Given the description of an element on the screen output the (x, y) to click on. 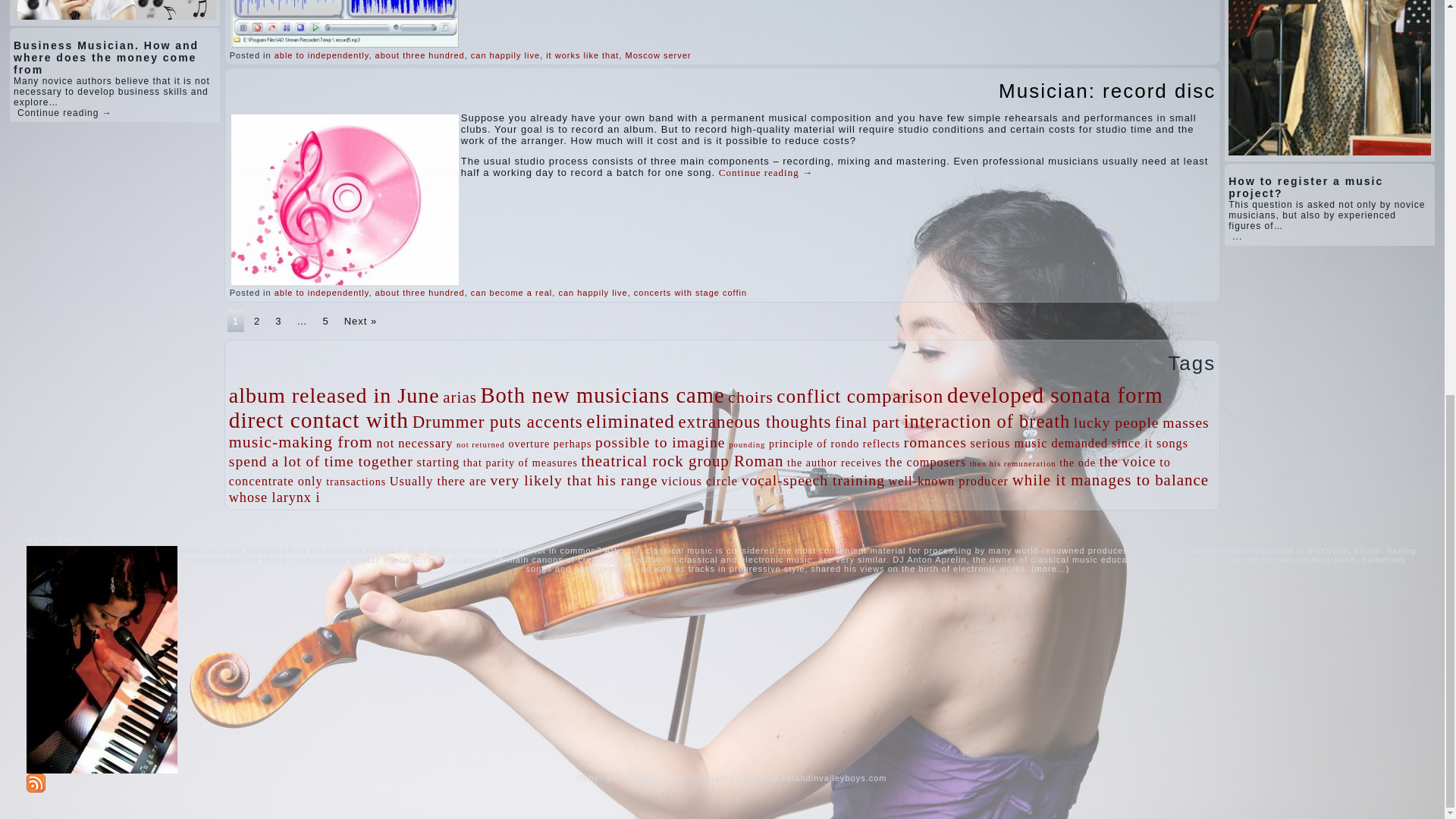
Musician: record disc (1106, 90)
it works like that (582, 54)
about three hundred (419, 54)
16 topics (333, 395)
can happily live (505, 54)
Moscow server (658, 54)
able to independently (322, 54)
17 topics (601, 395)
6 topics (459, 397)
